Given the description of an element on the screen output the (x, y) to click on. 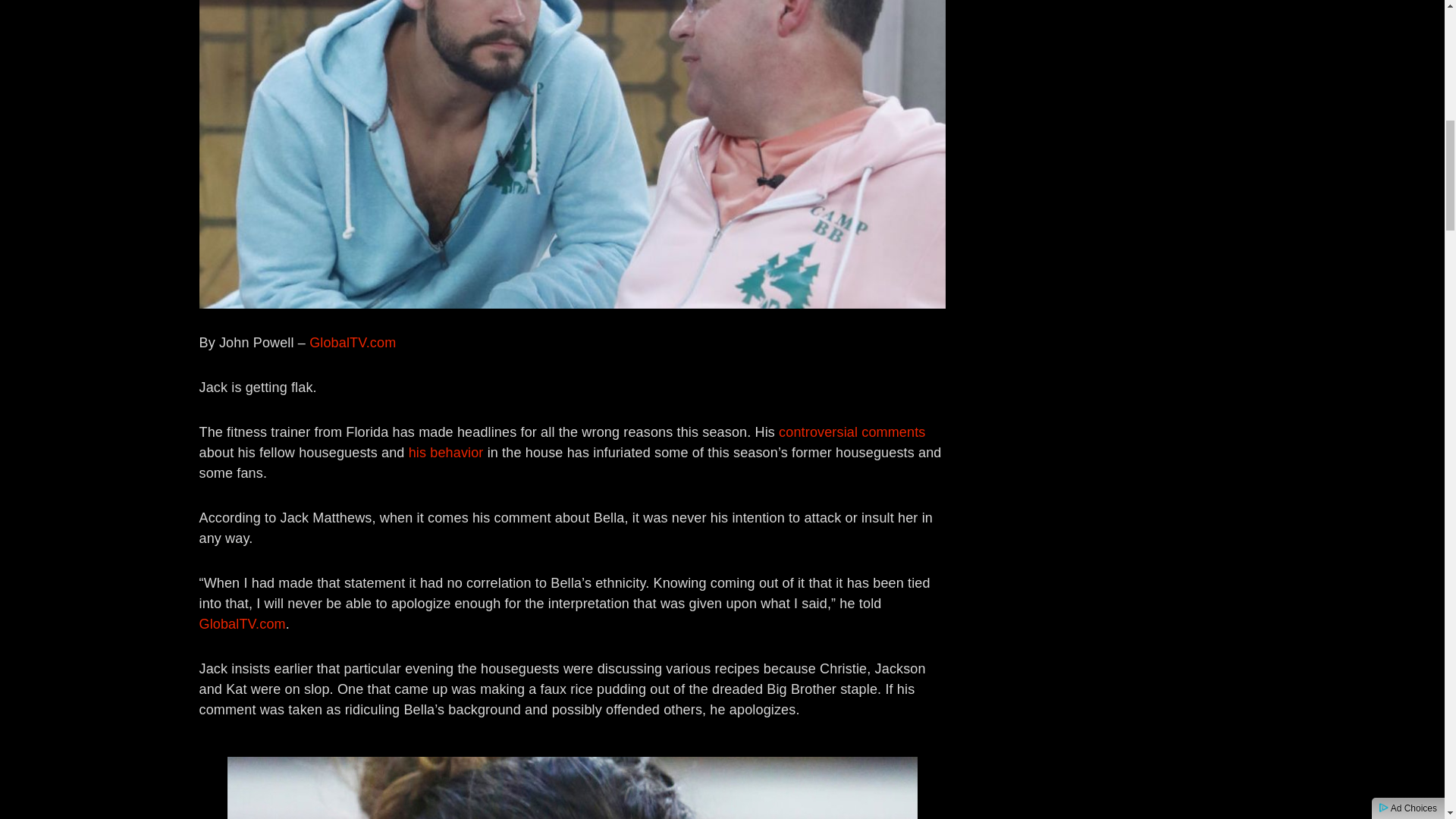
his behavior (446, 452)
GlobalTV.com (241, 623)
controversial comments (851, 432)
GlobalTV.com (352, 342)
